Given the description of an element on the screen output the (x, y) to click on. 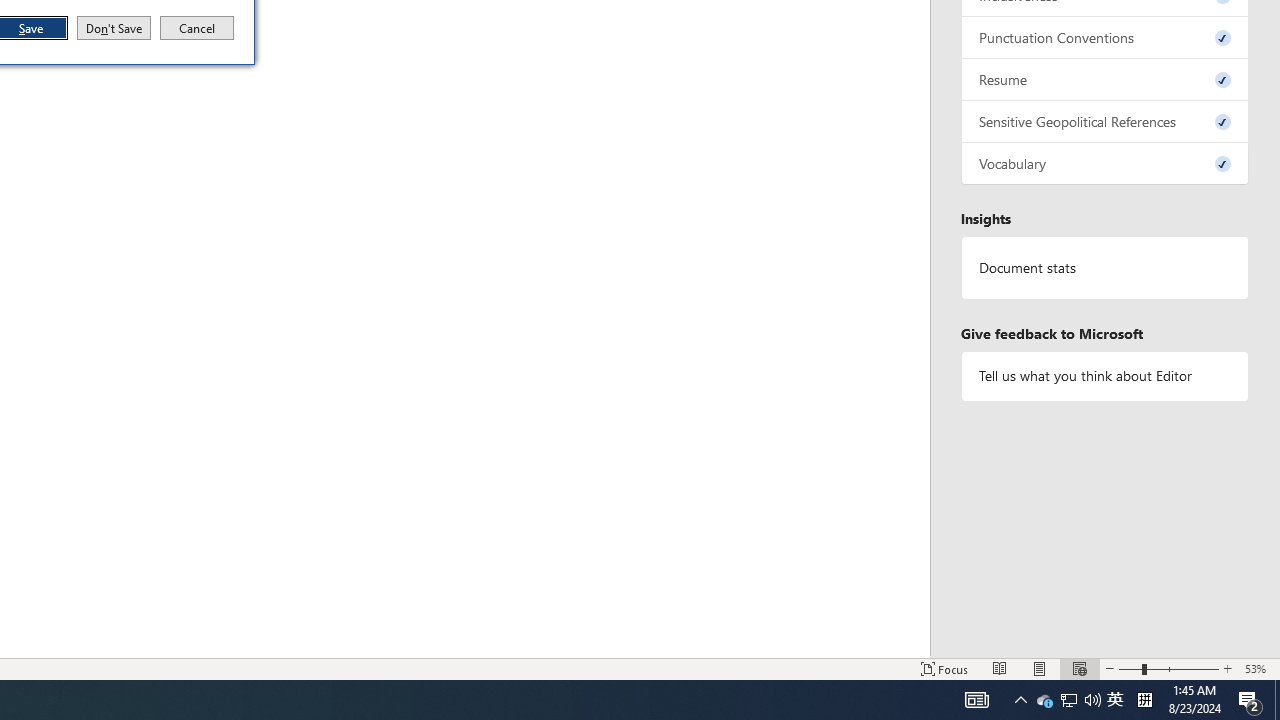
Tell us what you think about Editor (1069, 699)
Don't Save (1105, 376)
Read Mode (113, 27)
Resume, 0 issues. Press space or enter to review items. (1000, 668)
AutomationID: 4105 (1105, 79)
Zoom In (1044, 699)
Print Layout (976, 699)
Vocabulary, 0 issues. Press space or enter to review items. (1227, 668)
Notification Chevron (1039, 668)
Zoom (1105, 163)
Cancel (1020, 699)
Q2790: 100% (1168, 668)
